Given the description of an element on the screen output the (x, y) to click on. 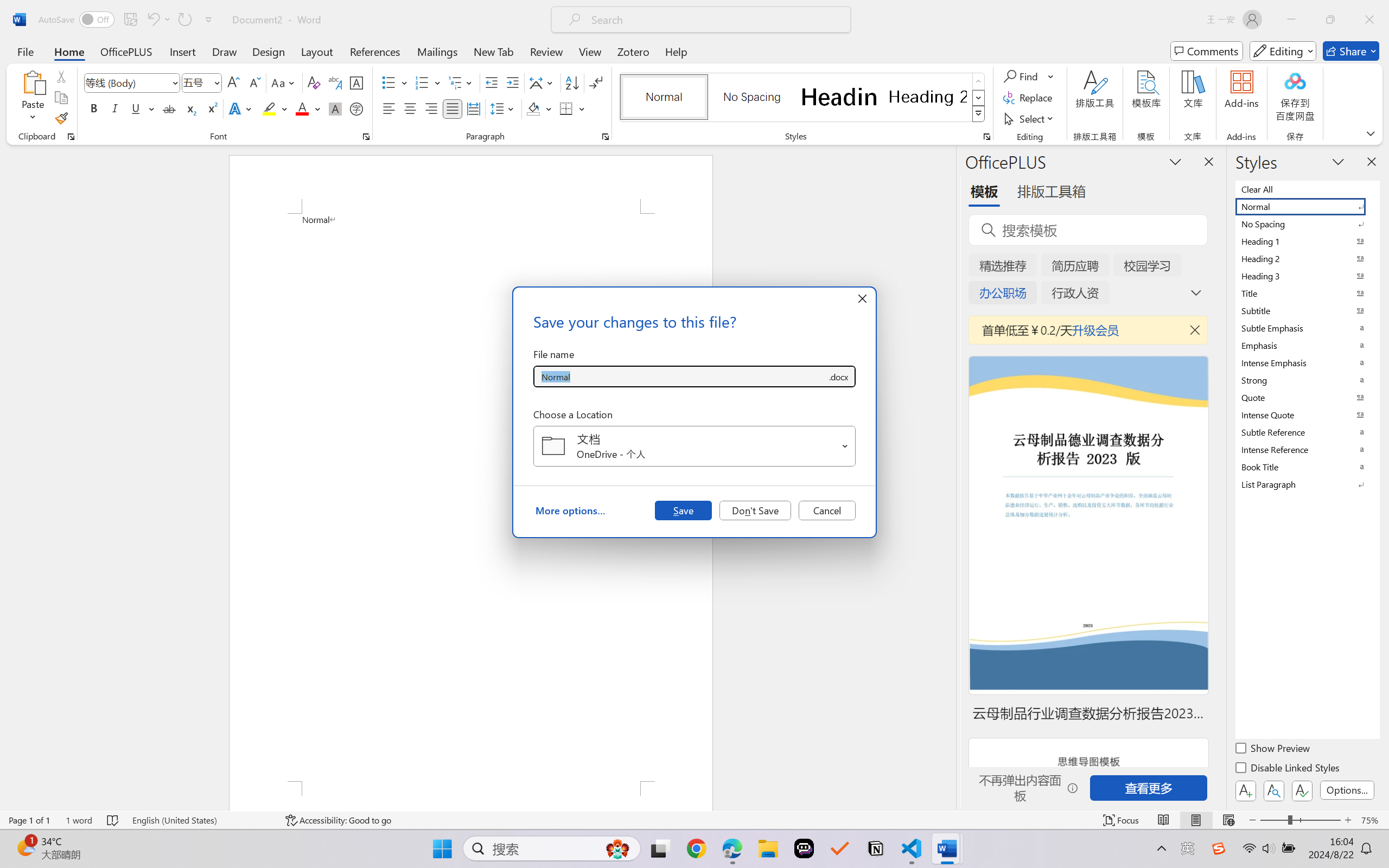
Change Case (284, 82)
Paste (33, 97)
Bullets (388, 82)
Class: MsoCommandBar (694, 819)
AutomationID: BadgeAnchorLargeTicker (24, 847)
Strong (1306, 379)
Spelling and Grammar Check No Errors (113, 819)
Ribbon Display Options (1370, 132)
Zoom Out (1273, 819)
Text Effects and Typography (241, 108)
Show/Hide Editing Marks (595, 82)
Save (682, 509)
